Given the description of an element on the screen output the (x, y) to click on. 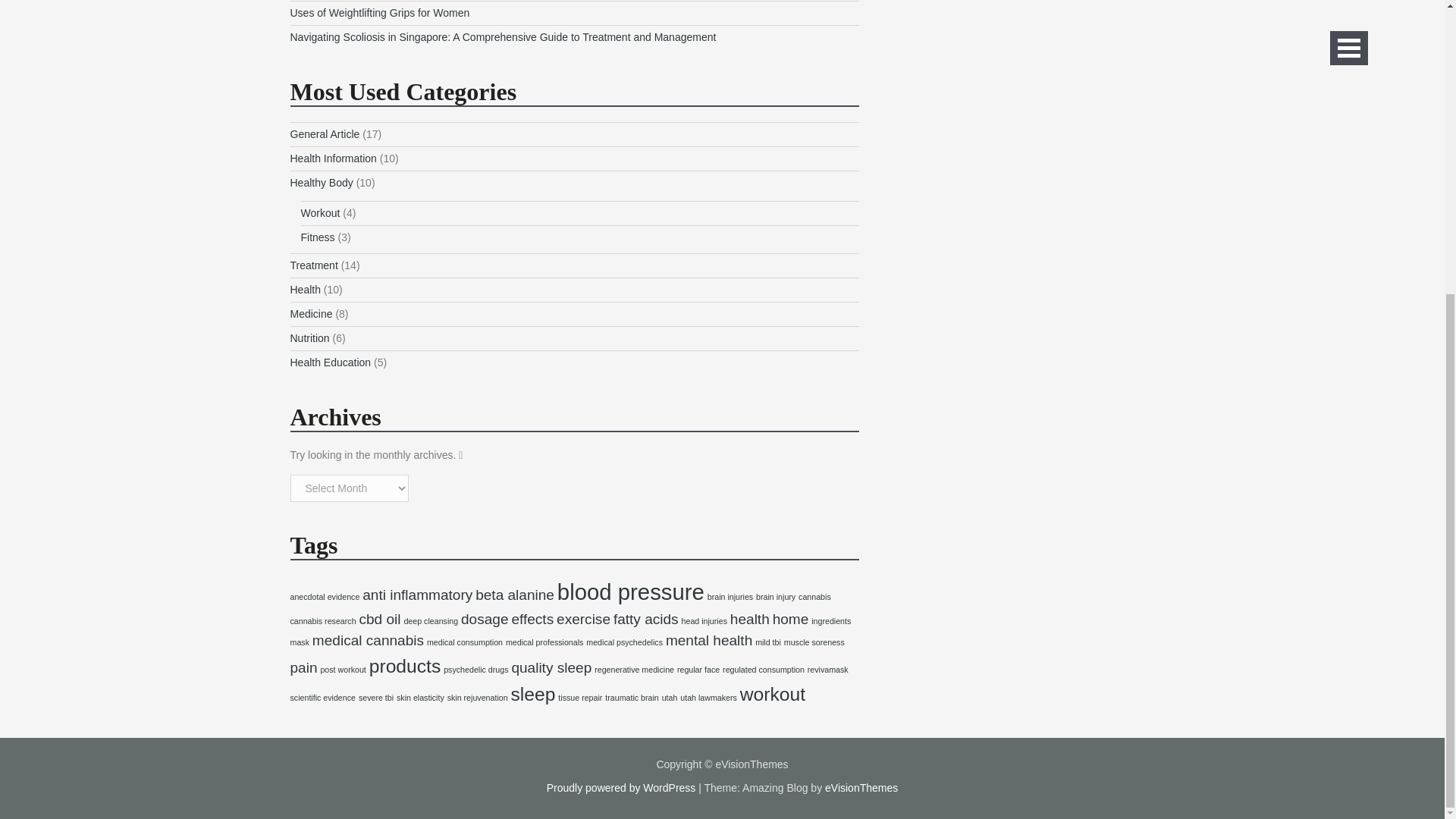
Uses of Weightlifting Grips for Women (378, 12)
Health Information (332, 158)
General Article (324, 133)
Healthy Body (320, 182)
